Given the description of an element on the screen output the (x, y) to click on. 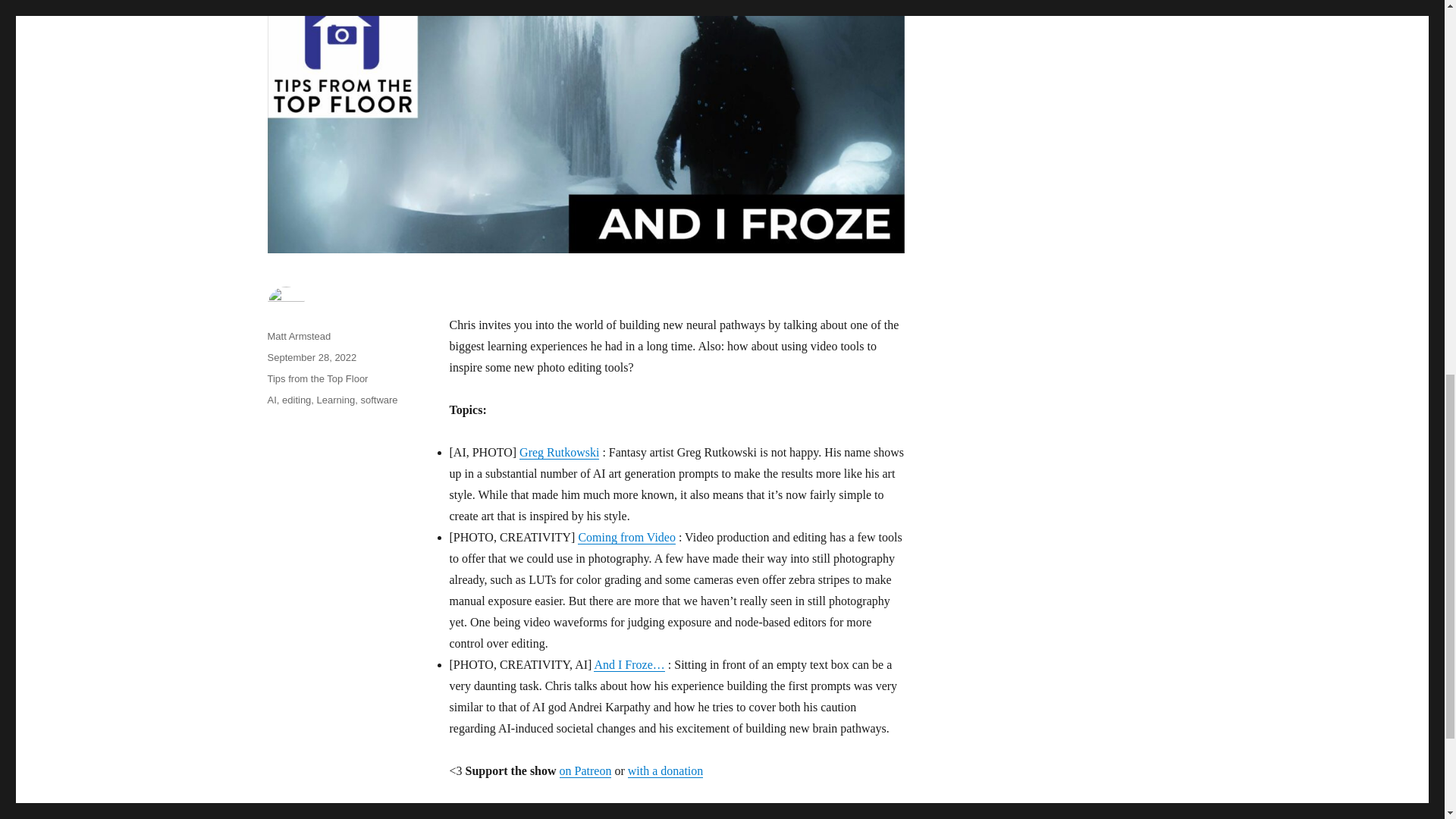
on Patreon (585, 770)
software (378, 399)
with a donation (665, 770)
Tips from the Top Floor (317, 378)
Matt Armstead (298, 336)
Greg Rutkowski (558, 451)
Download the MP3 for this episode (542, 812)
September 28, 2022 (311, 357)
Coming from Video (626, 536)
editing (296, 399)
